Given the description of an element on the screen output the (x, y) to click on. 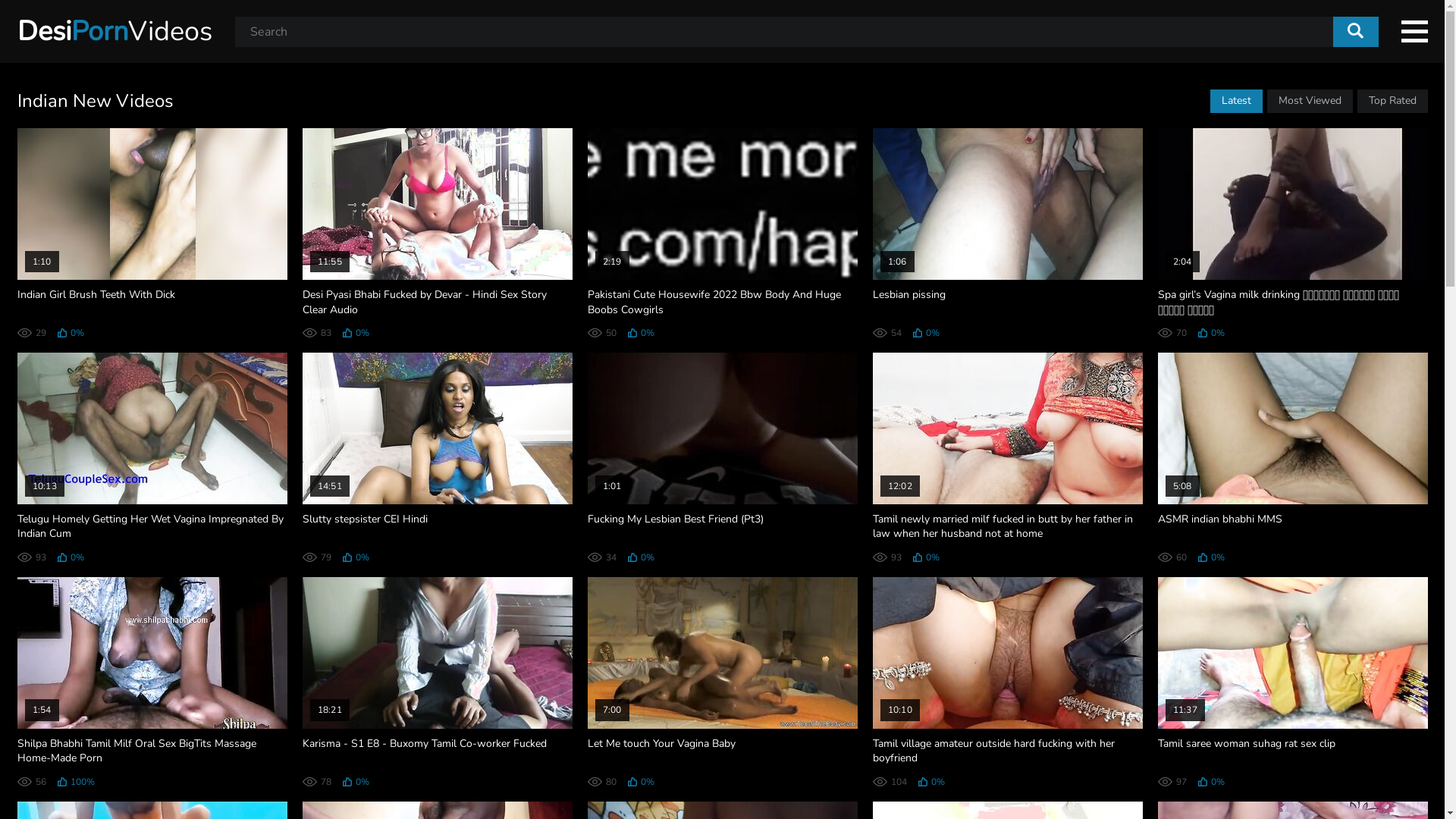
18:21
Karisma - S1 E8 - Buxomy Tamil Co-worker Fucked
78
0% Element type: text (436, 681)
Latest Element type: text (1236, 100)
5:08
ASMR indian bhabhi MMS
60
0% Element type: text (1292, 456)
1:10
Indian Girl Brush Teeth With Dick
29
0% Element type: text (151, 232)
1:01
Fucking My Lesbian Best Friend (Pt3)
34
0% Element type: text (721, 456)
Top Rated Element type: text (1392, 100)
7:00
Let Me touch Your Vagina Baby
80
0% Element type: text (721, 681)
1:06
Lesbian pissing
54
0% Element type: text (1007, 232)
11:37
Tamil saree woman suhag rat sex clip
97
0% Element type: text (1292, 681)
DesiPornVideos Element type: text (113, 31)
Most Viewed Element type: text (1309, 100)
14:51
Slutty stepsister CEI Hindi
79
0% Element type: text (436, 456)
